Given the description of an element on the screen output the (x, y) to click on. 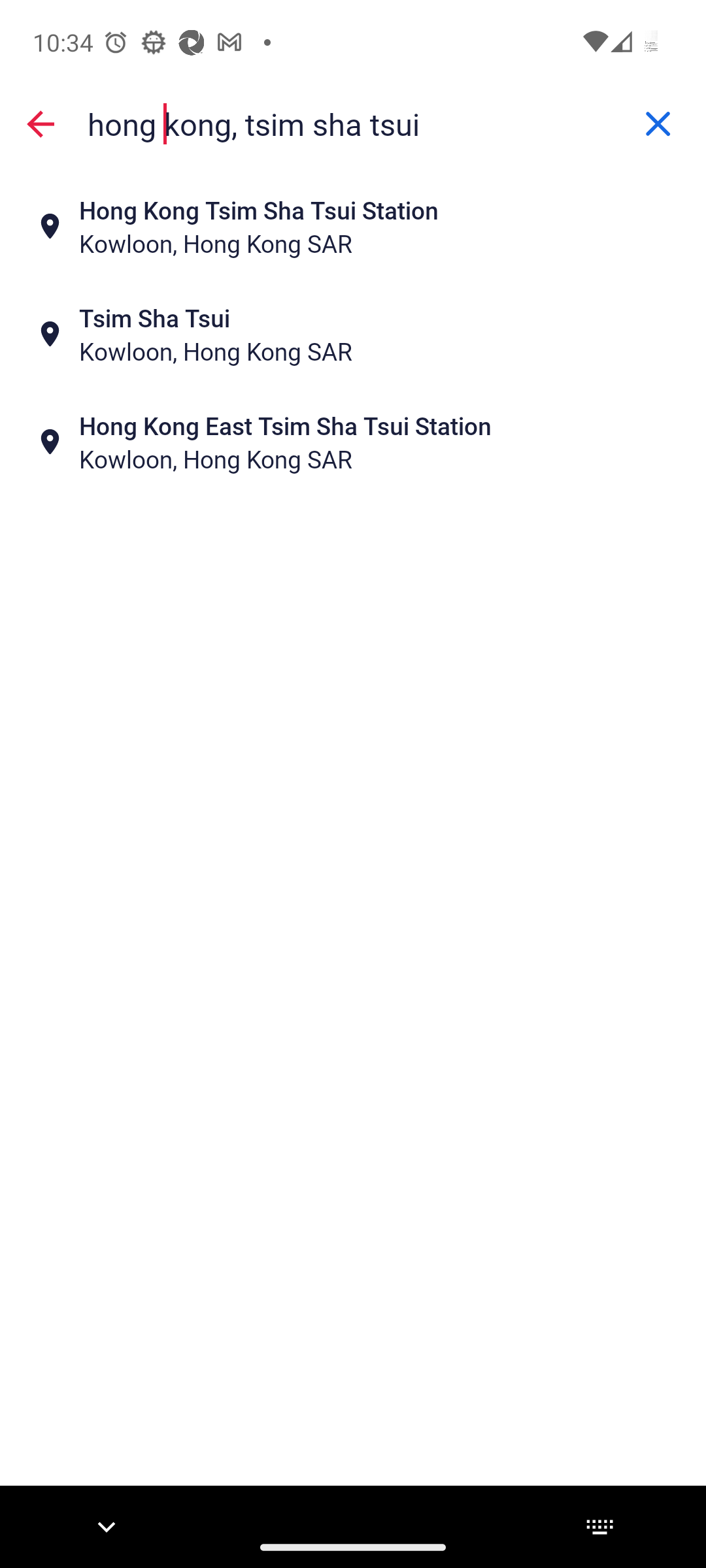
Close search screen (41, 124)
Clear Pick-up (657, 123)
Pick-up, hong kong, tsim sha tsui (352, 123)
